Given the description of an element on the screen output the (x, y) to click on. 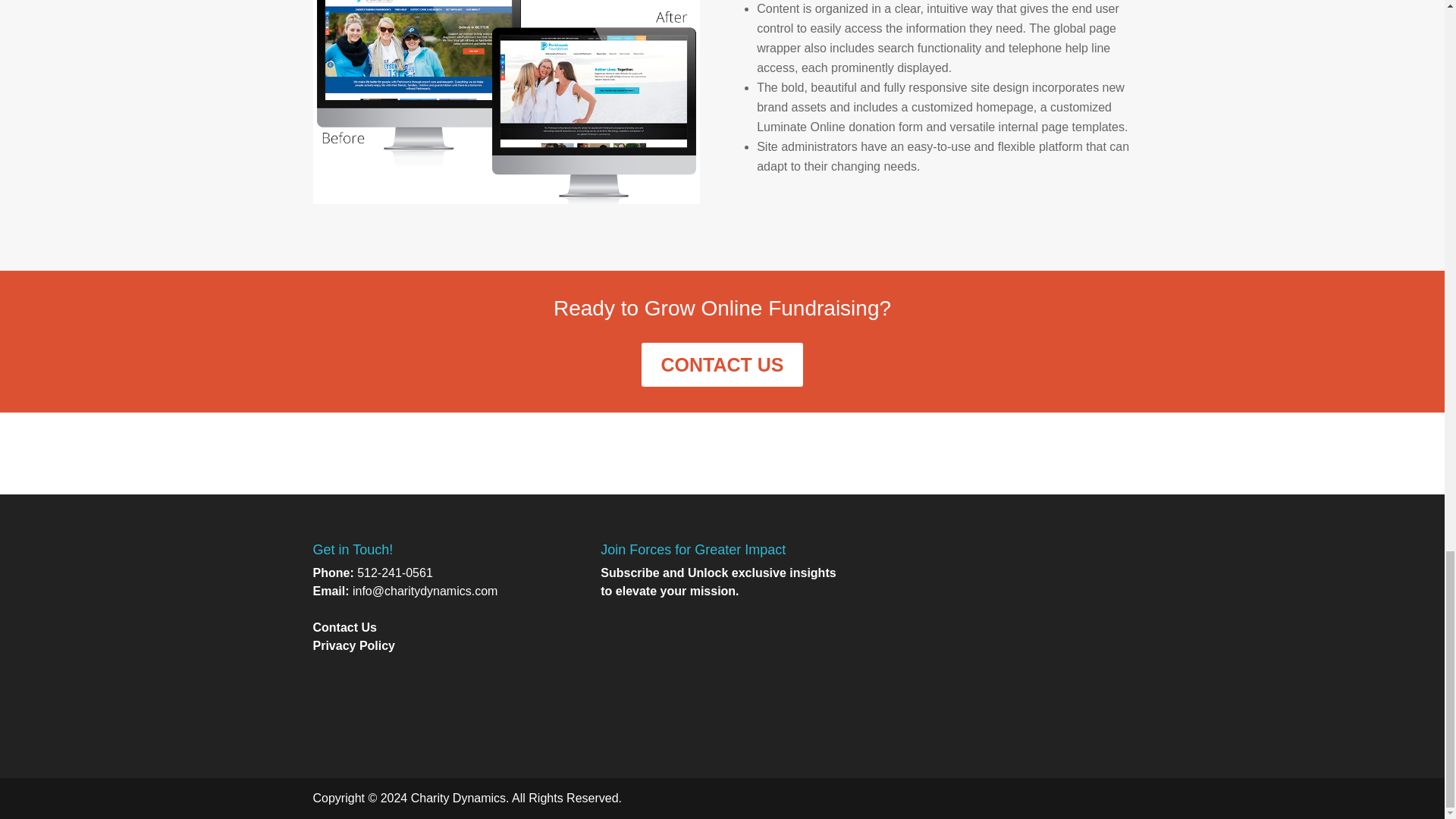
CONTACT US (721, 364)
Privacy Policy (353, 645)
Contact Us (344, 626)
Form 0 (721, 675)
